Given the description of an element on the screen output the (x, y) to click on. 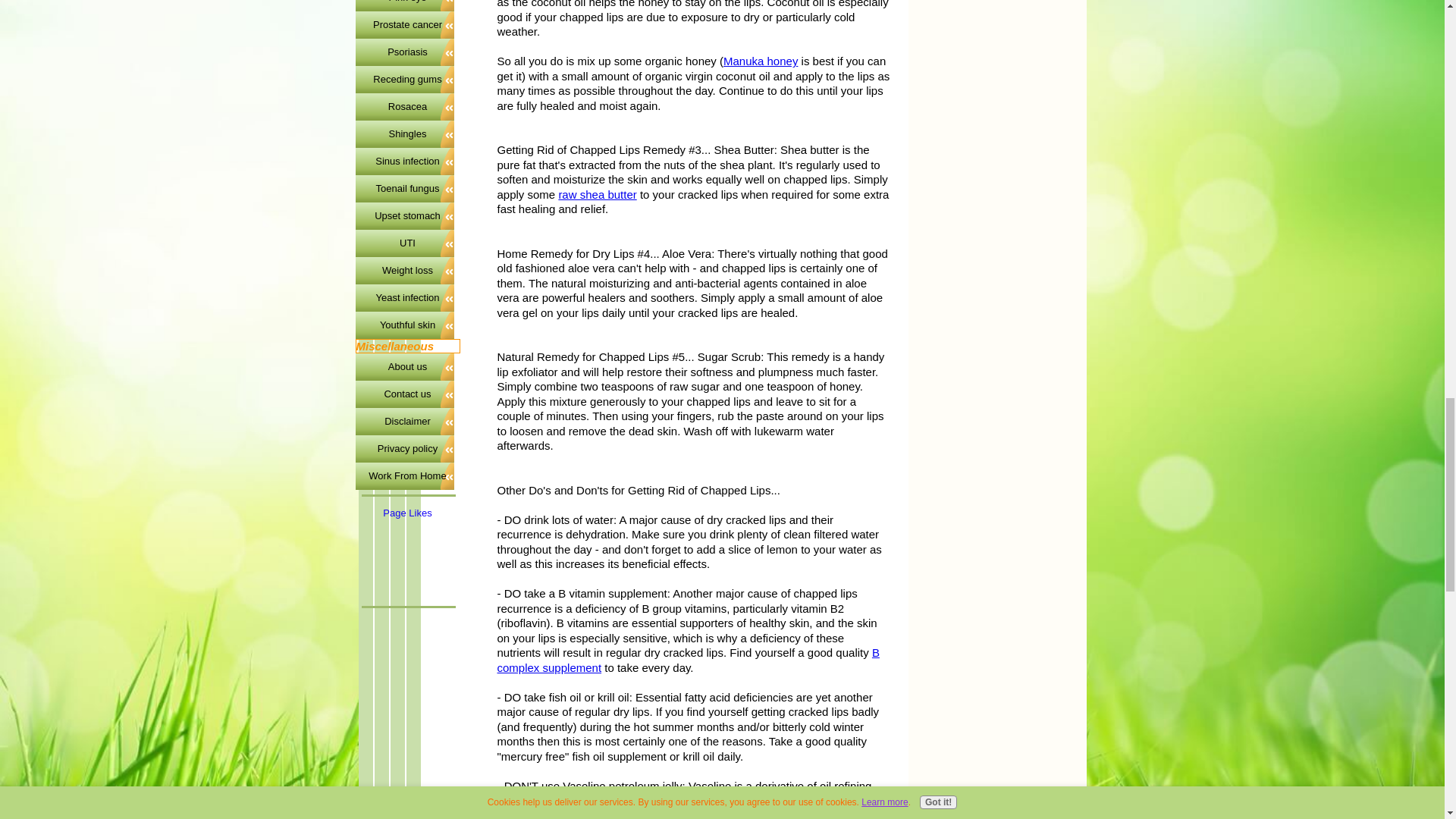
B complex supplement (688, 660)
raw shea butter (596, 194)
Manuka honey (760, 60)
